Given the description of an element on the screen output the (x, y) to click on. 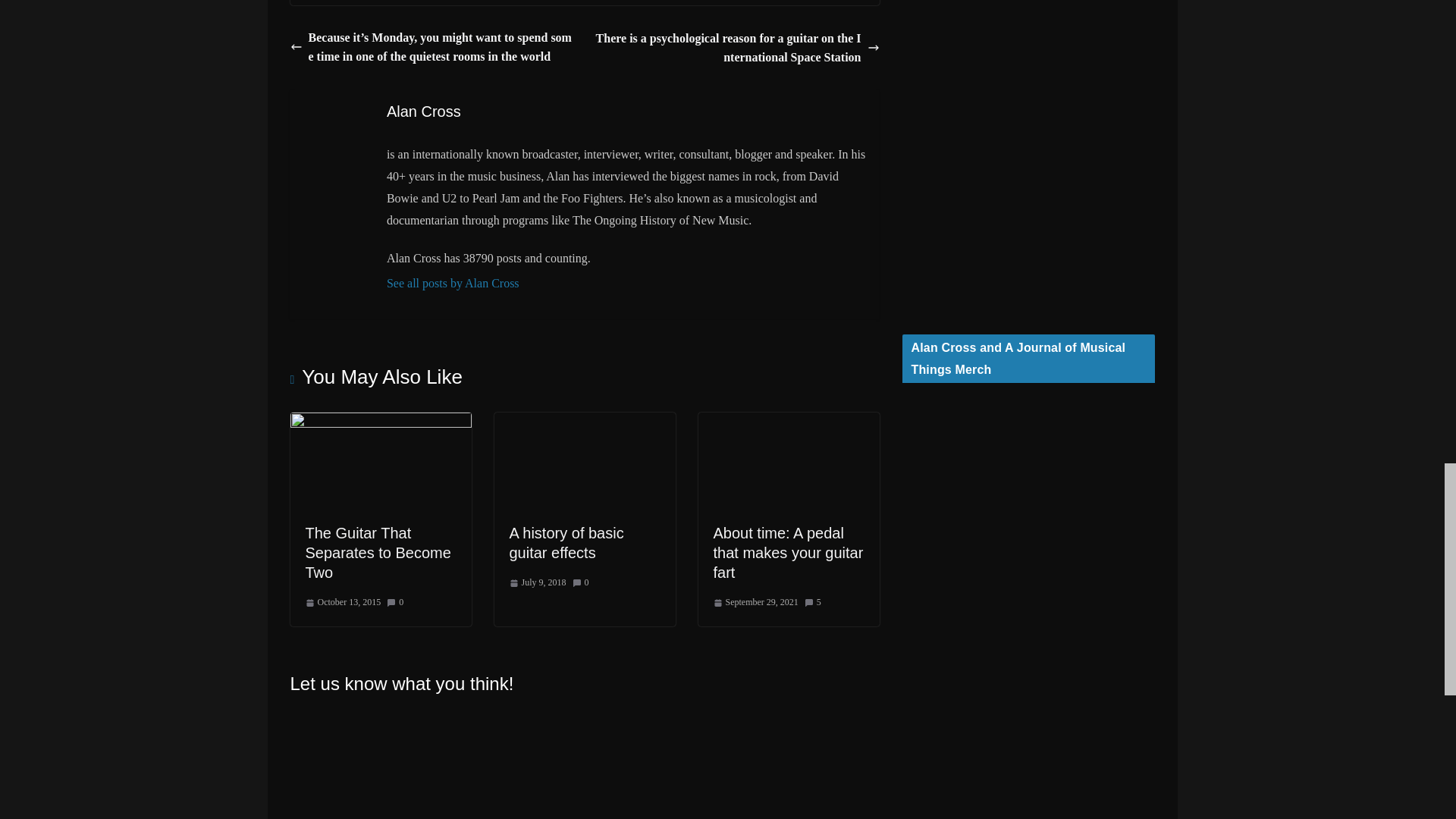
See all posts by Alan Cross (627, 283)
8:55 am (342, 602)
July 9, 2018 (537, 582)
The Guitar That Separates to Become Two (376, 552)
The Guitar That Separates to Become Two (376, 552)
7:10 am (755, 602)
A history of basic guitar effects (566, 542)
October 13, 2015 (342, 602)
The Guitar That Separates to Become Two (379, 422)
